Given the description of an element on the screen output the (x, y) to click on. 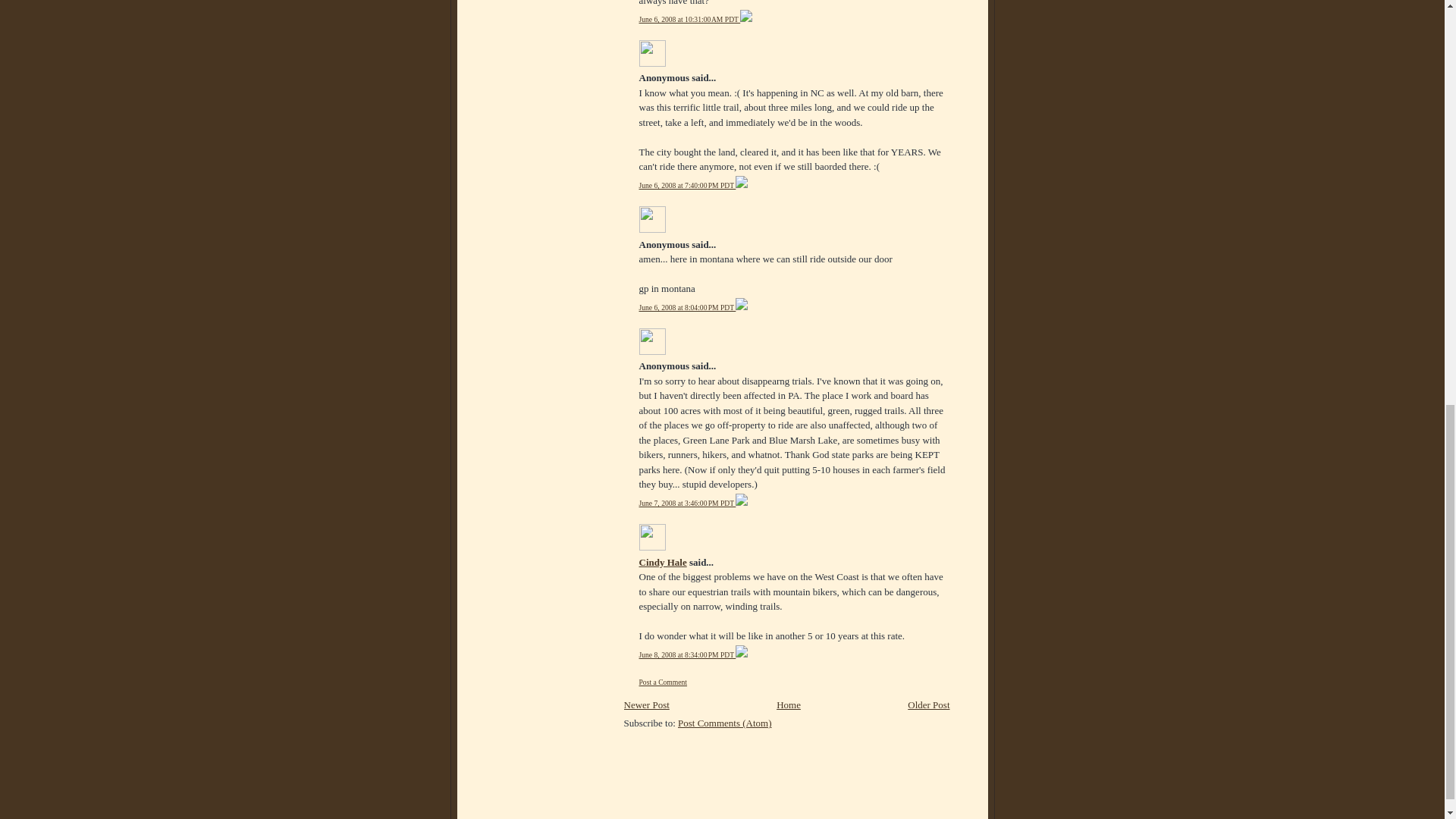
Delete Comment (745, 19)
comment permalink (687, 502)
Delete Comment (741, 184)
comment permalink (687, 307)
comment permalink (689, 19)
comment permalink (687, 184)
Anonymous (652, 53)
Anonymous (652, 219)
Anonymous (652, 341)
Delete Comment (741, 307)
